Given the description of an element on the screen output the (x, y) to click on. 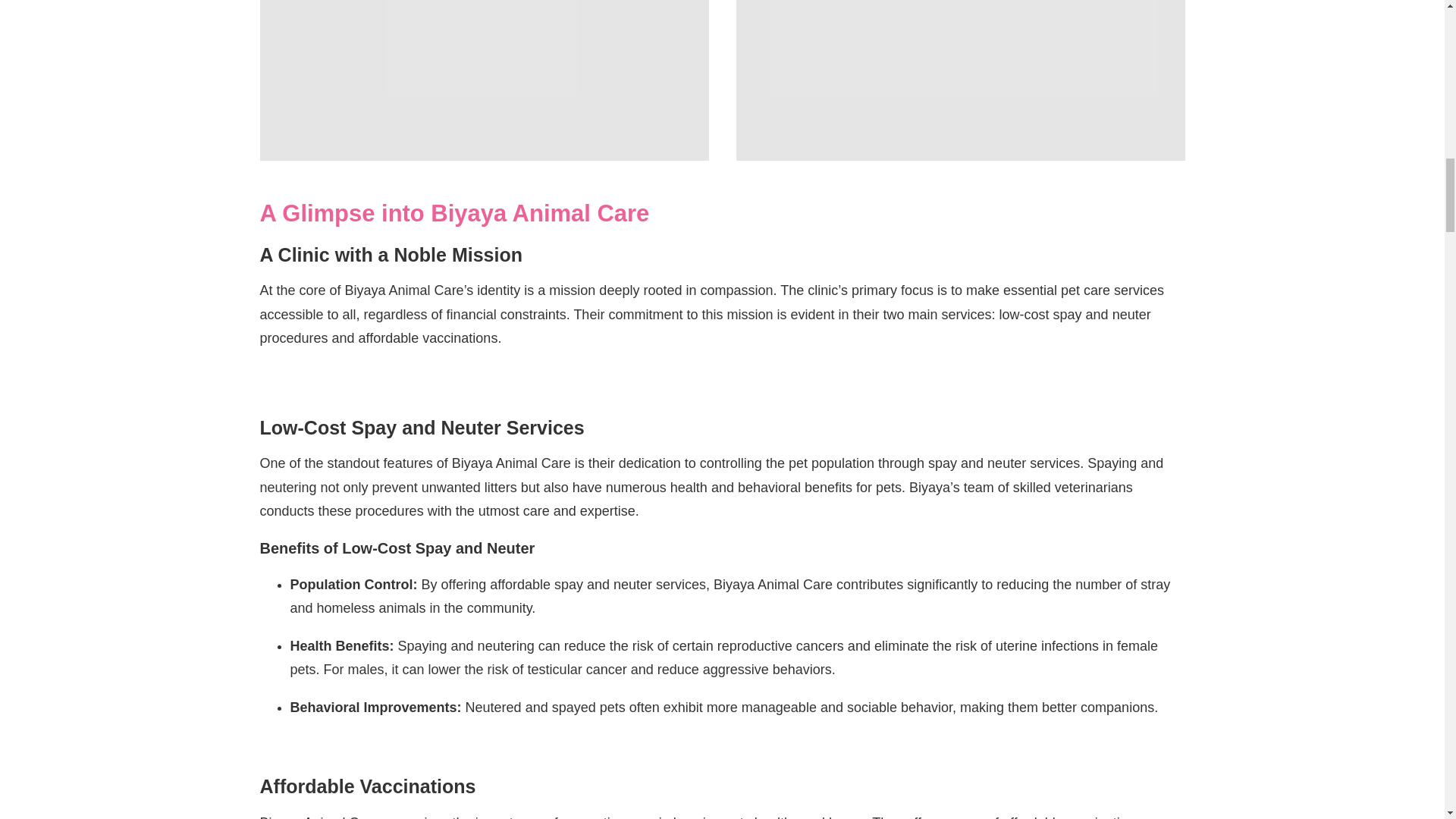
Biyaya Animal Care: Where Compassion Meets Affordability 2 (483, 80)
Biyaya Animal Care: Where Compassion Meets Affordability 3 (960, 80)
